Given the description of an element on the screen output the (x, y) to click on. 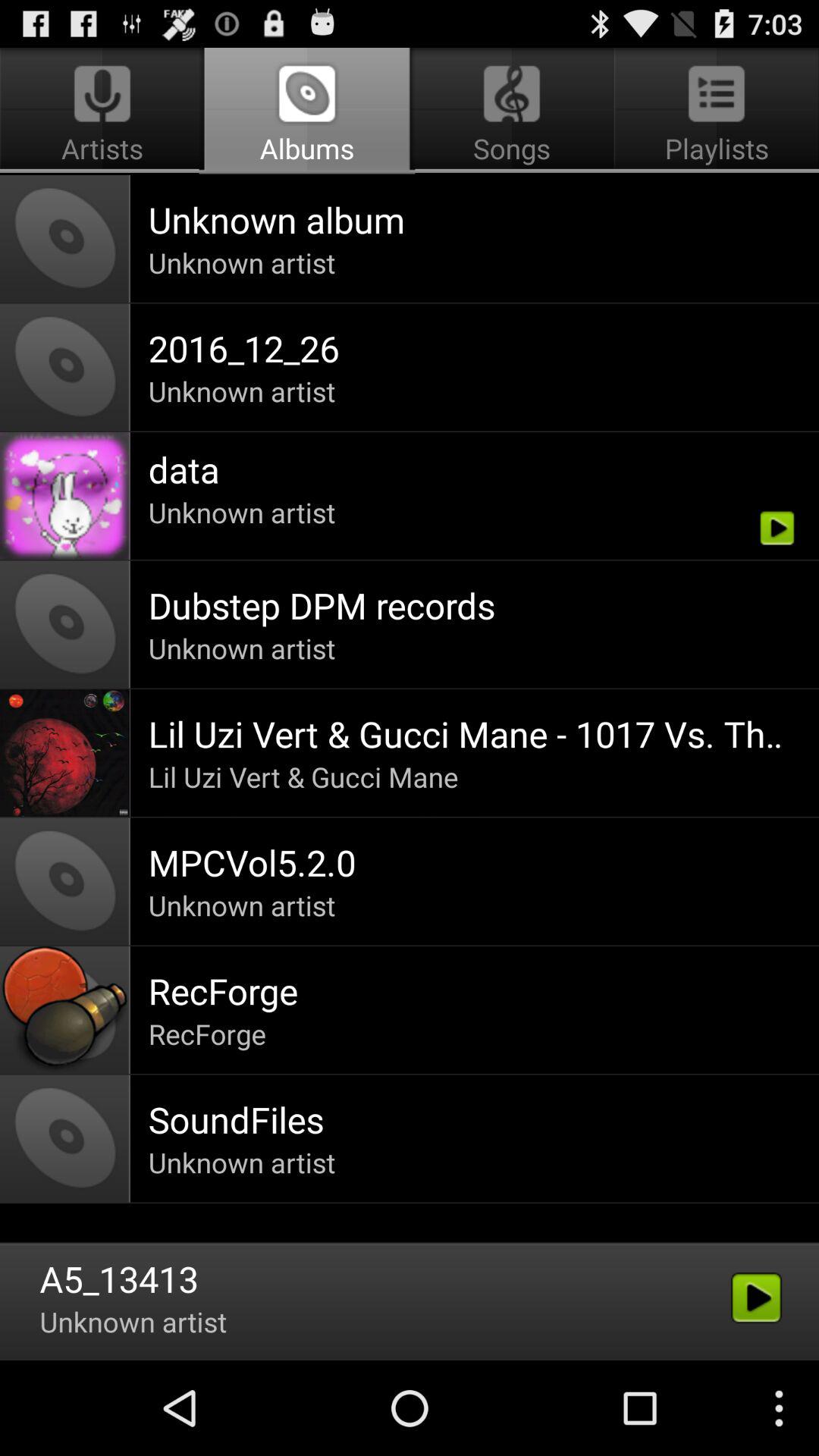
select the icon next to the artists (511, 111)
